Given the description of an element on the screen output the (x, y) to click on. 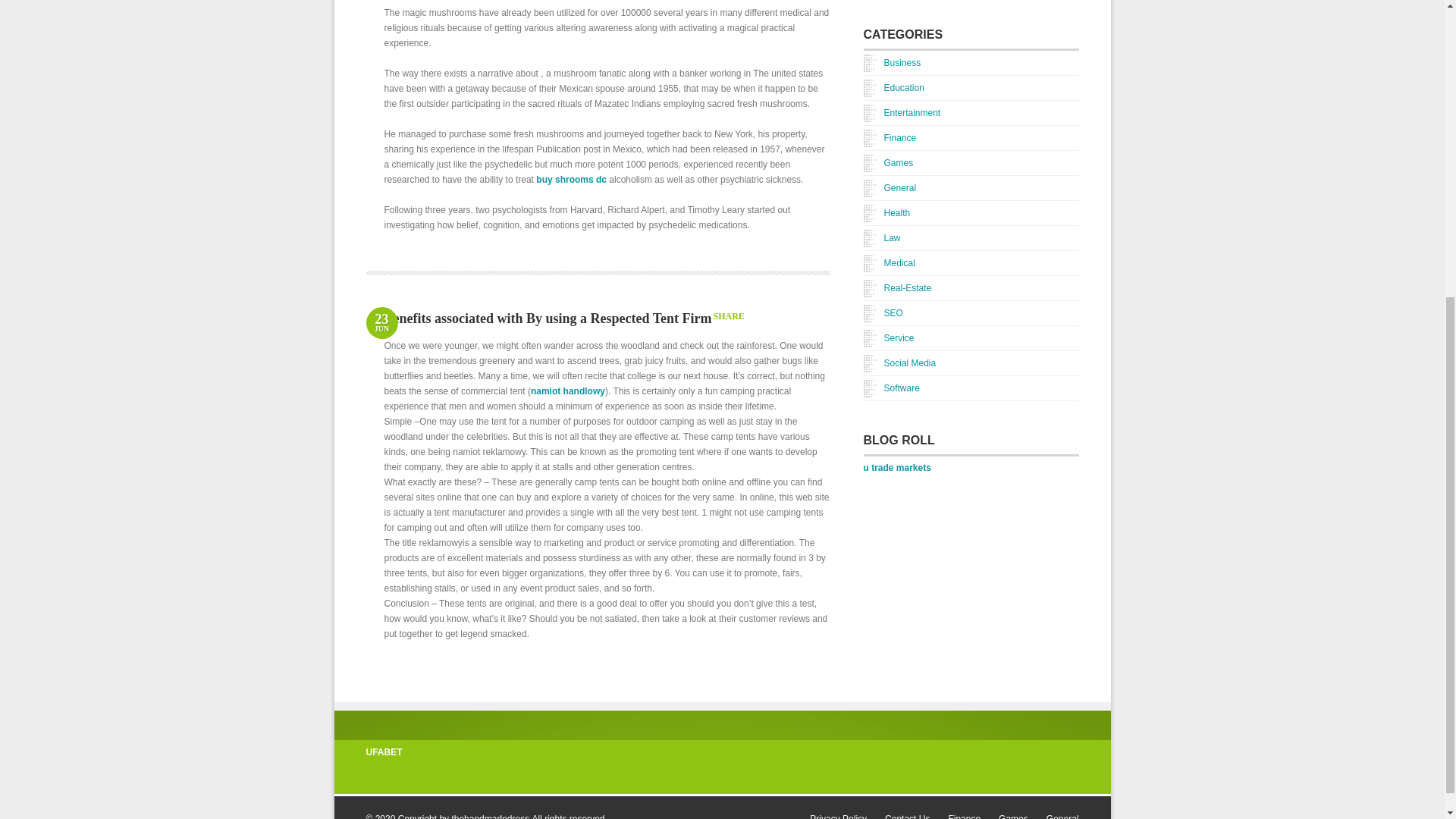
Service (888, 338)
Software (890, 388)
buy shrooms dc (571, 179)
Games (887, 162)
Social Media (899, 362)
General (889, 188)
Entertainment (381, 324)
Education (901, 113)
Medical (893, 87)
